Given the description of an element on the screen output the (x, y) to click on. 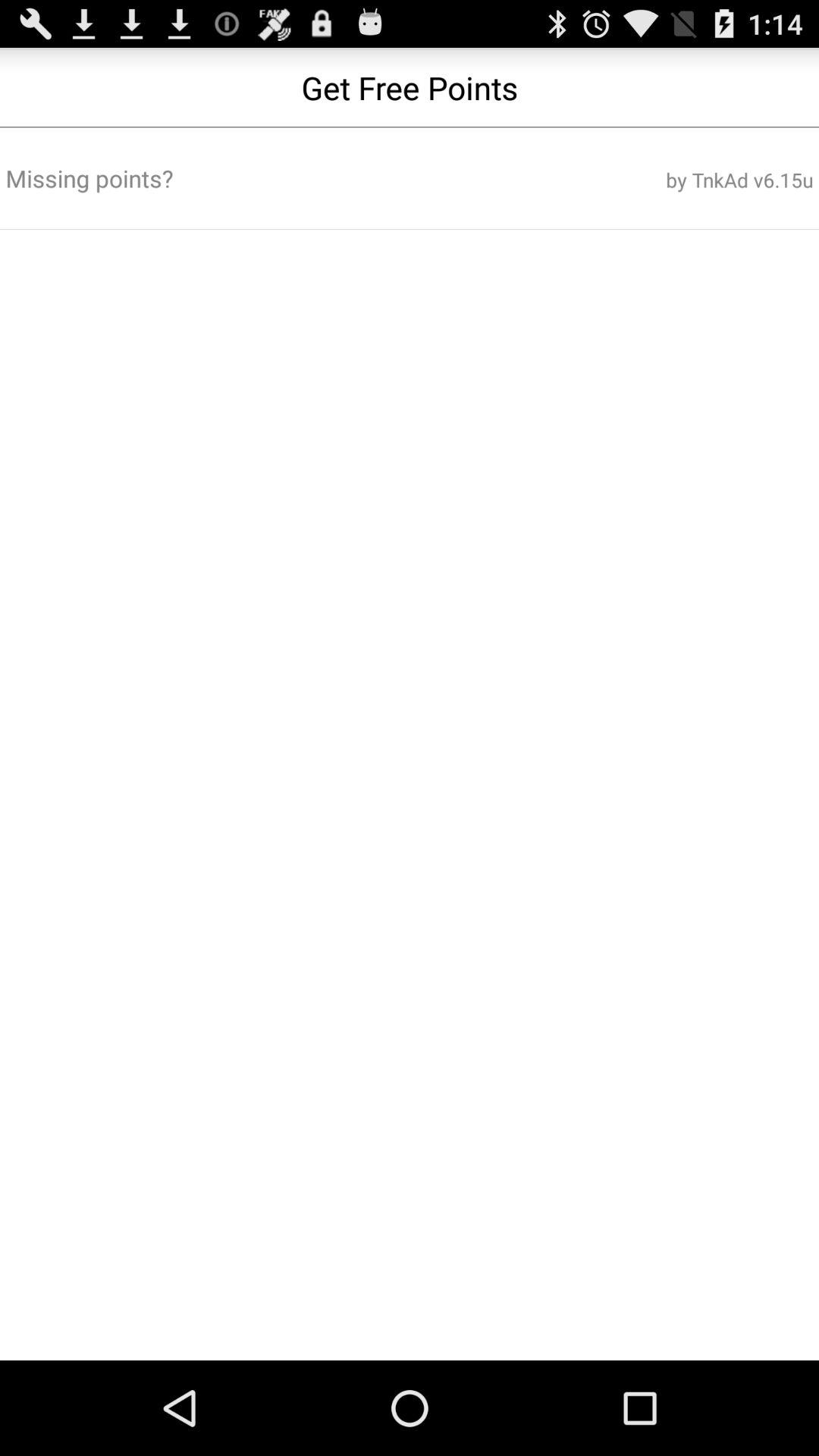
turn off icon at the top right corner (677, 180)
